Given the description of an element on the screen output the (x, y) to click on. 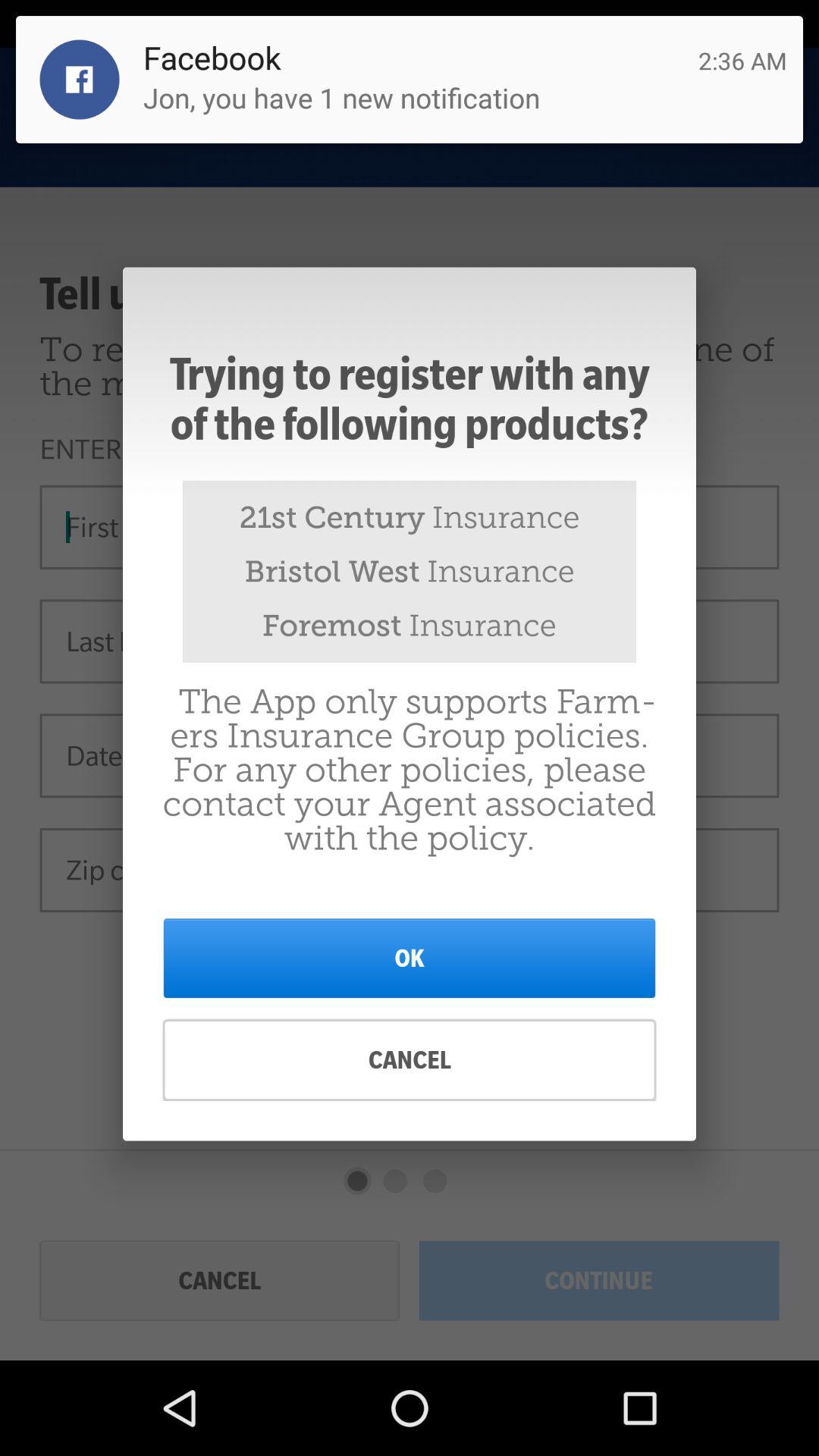
press icon above cancel item (409, 958)
